Given the description of an element on the screen output the (x, y) to click on. 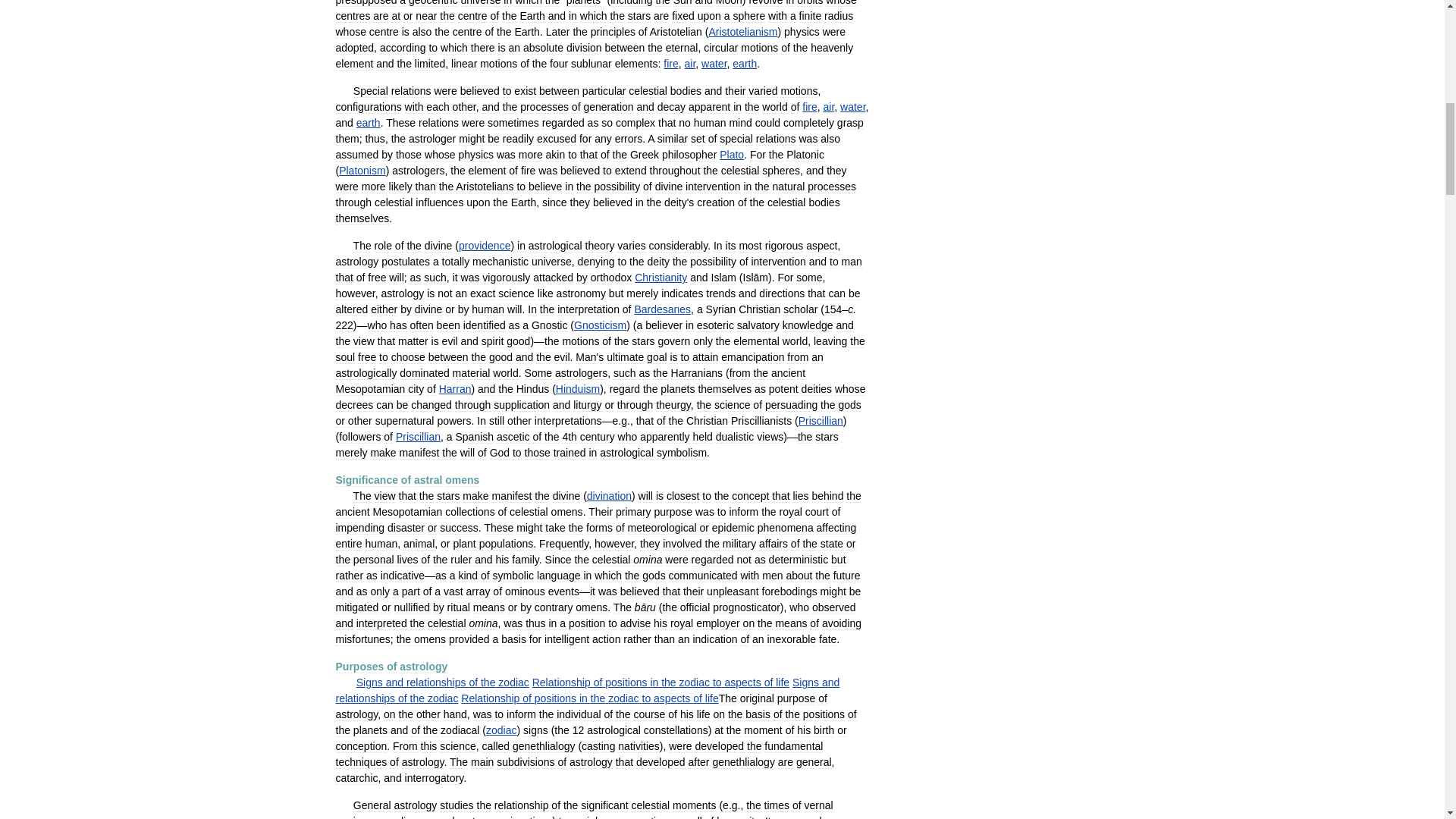
water (852, 106)
air (828, 106)
earth (744, 63)
water (713, 63)
Aristotelianism (742, 31)
fire (670, 63)
fire (809, 106)
air (689, 63)
